Given the description of an element on the screen output the (x, y) to click on. 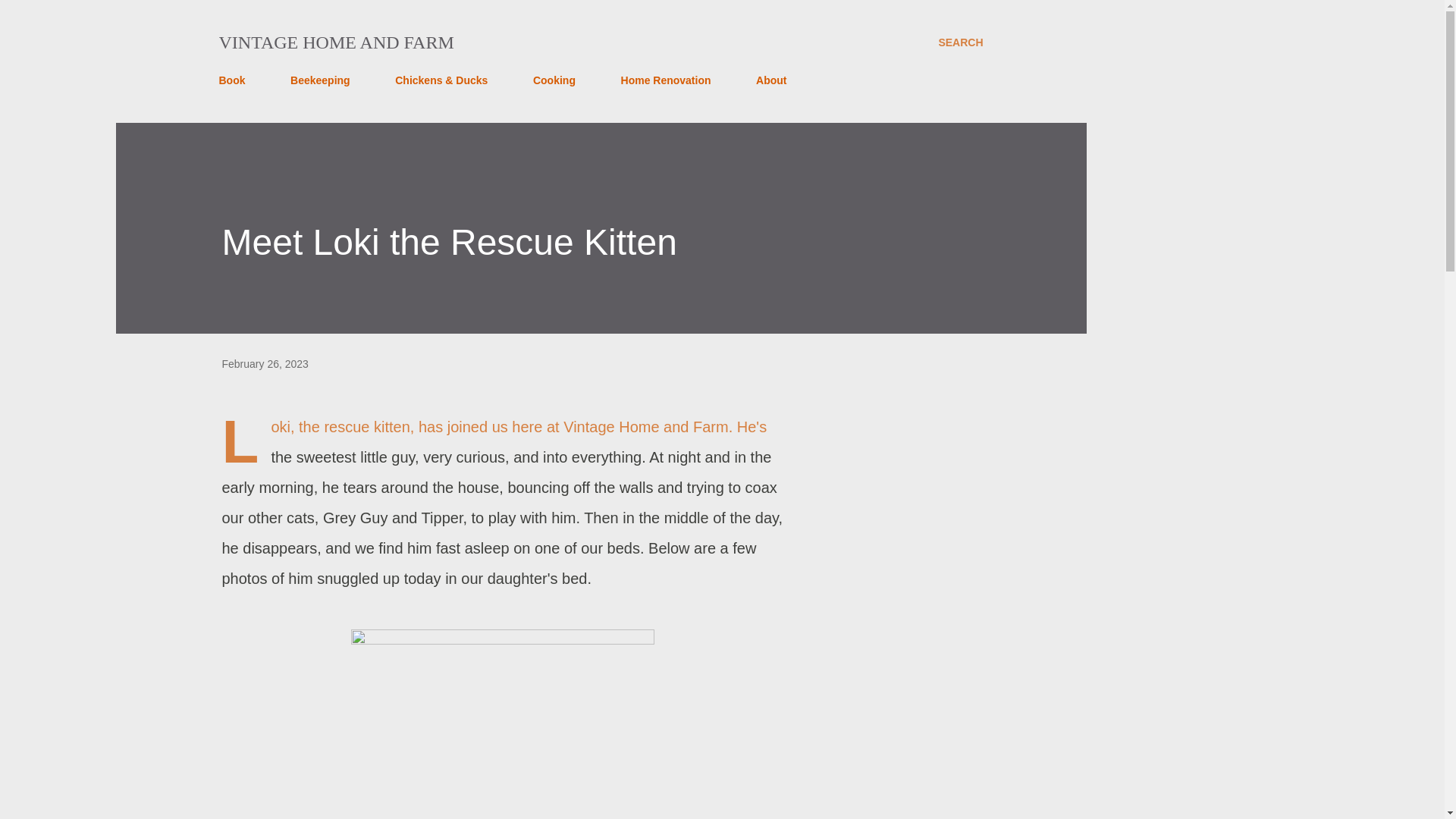
About (770, 80)
February 26, 2023 (264, 363)
VINTAGE HOME AND FARM (335, 42)
Cooking (554, 80)
Book (235, 80)
SEARCH (959, 42)
Home Renovation (665, 80)
Beekeeping (320, 80)
permanent link (264, 363)
